Given the description of an element on the screen output the (x, y) to click on. 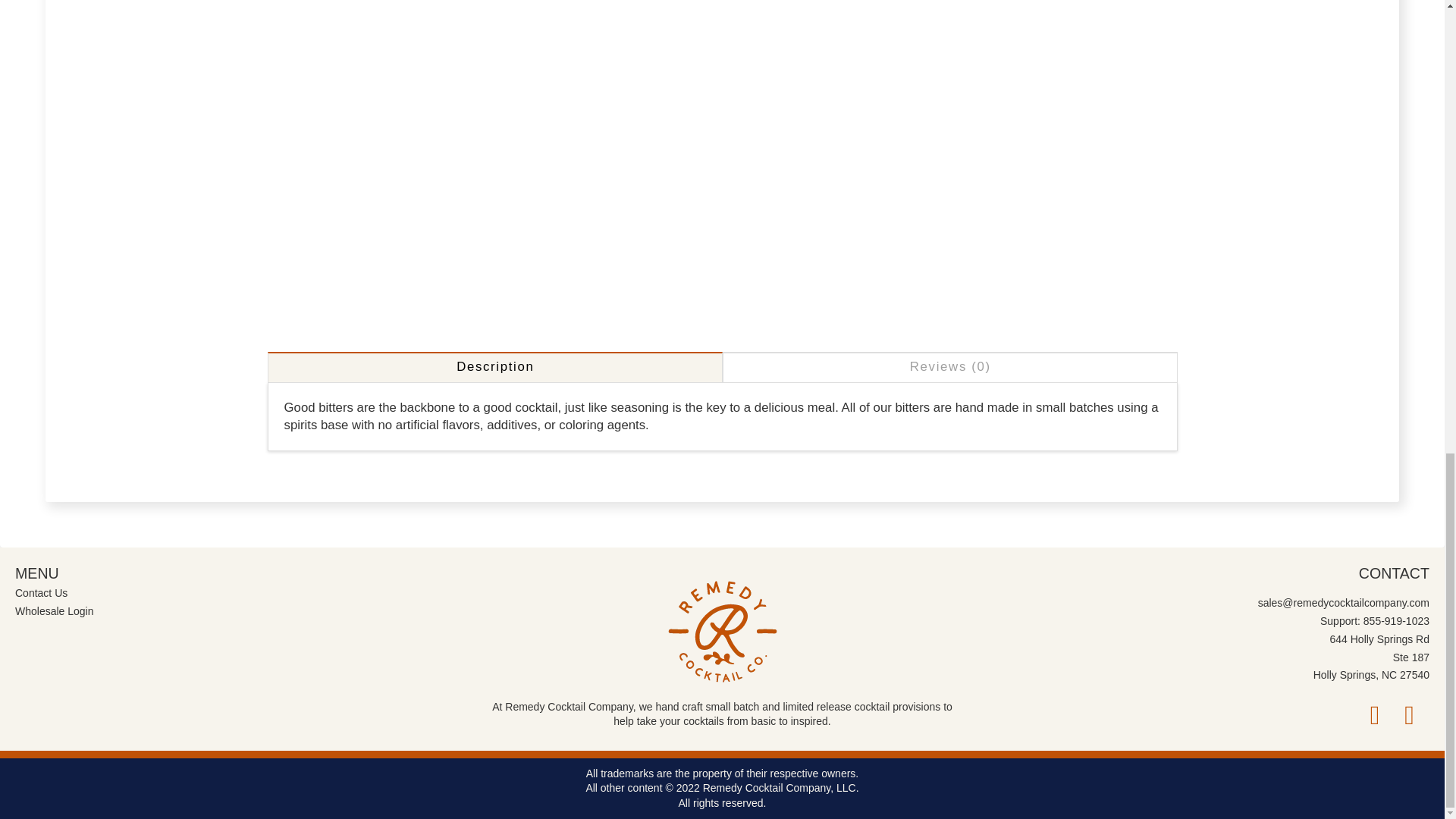
Description (494, 367)
Wholesale Login (55, 610)
View our Facebook page (1374, 715)
Contact Us (42, 592)
View our Instagram (1409, 715)
